Given the description of an element on the screen output the (x, y) to click on. 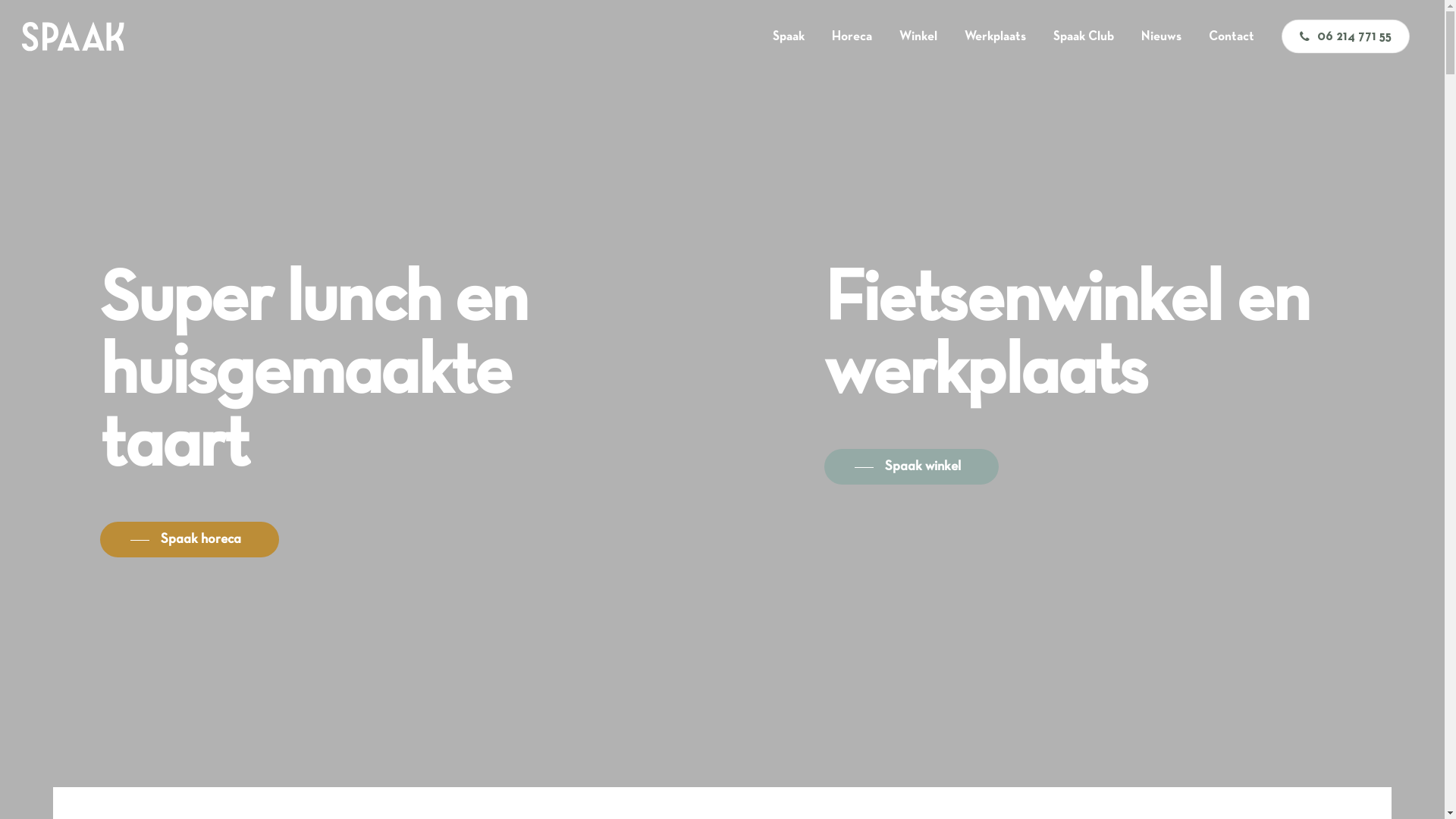
Horeca Element type: text (851, 36)
Nieuws Element type: text (1161, 36)
Spaak Element type: text (788, 36)
Werkplaats Element type: text (995, 36)
Winkel Element type: text (918, 36)
Spaak Club Element type: text (1083, 36)
Spaak winkel Element type: text (911, 466)
Spaak horeca Element type: text (189, 539)
06 214 771 55 Element type: text (1345, 36)
Contact Element type: text (1231, 36)
